Given the description of an element on the screen output the (x, y) to click on. 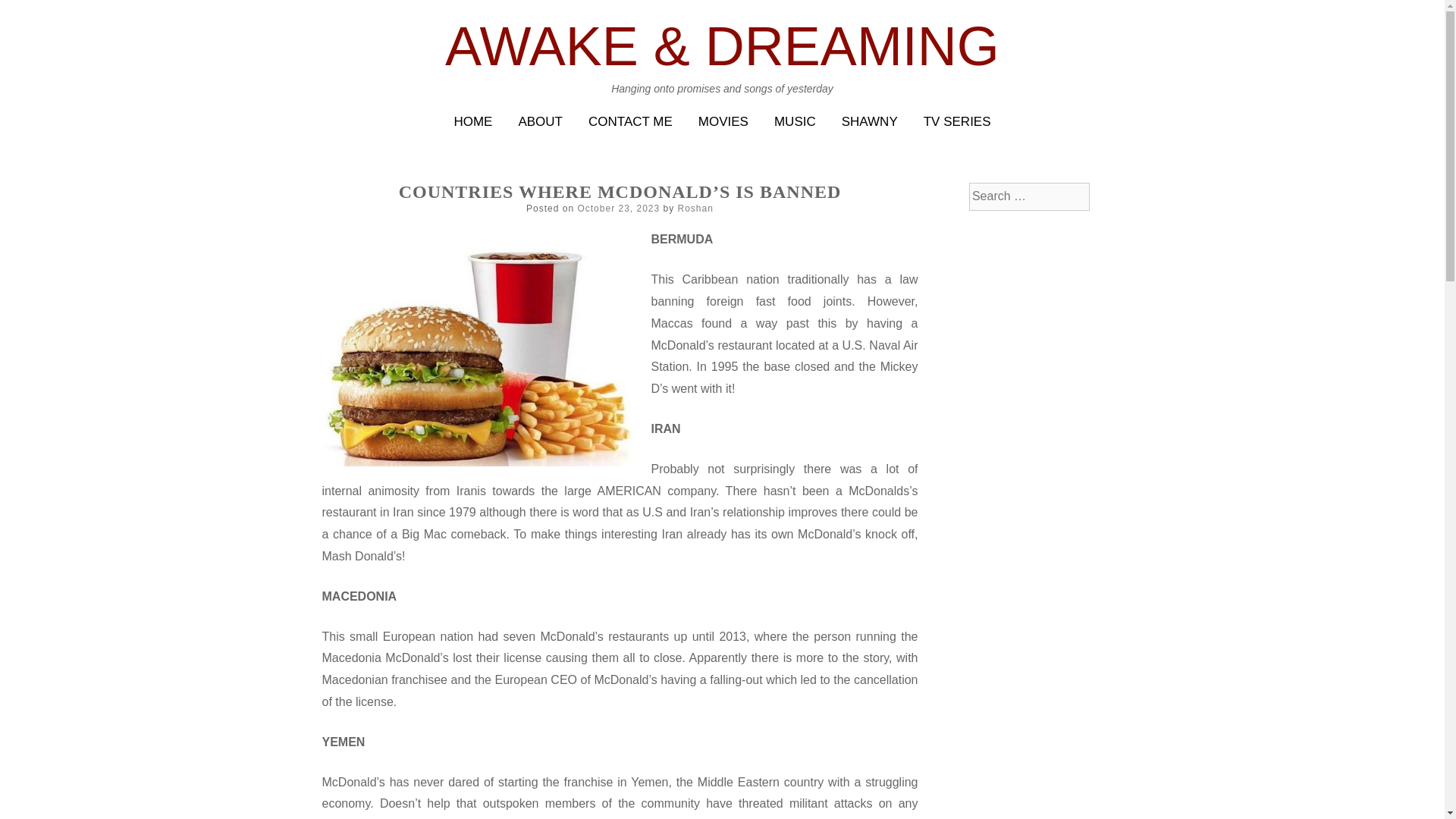
TV SERIES (957, 121)
MOVIES (723, 121)
CONTACT ME (630, 121)
SHAWNY (869, 121)
Search (29, 13)
HOME (472, 121)
ABOUT (540, 121)
MUSIC (794, 121)
Roshan (695, 208)
